Given the description of an element on the screen output the (x, y) to click on. 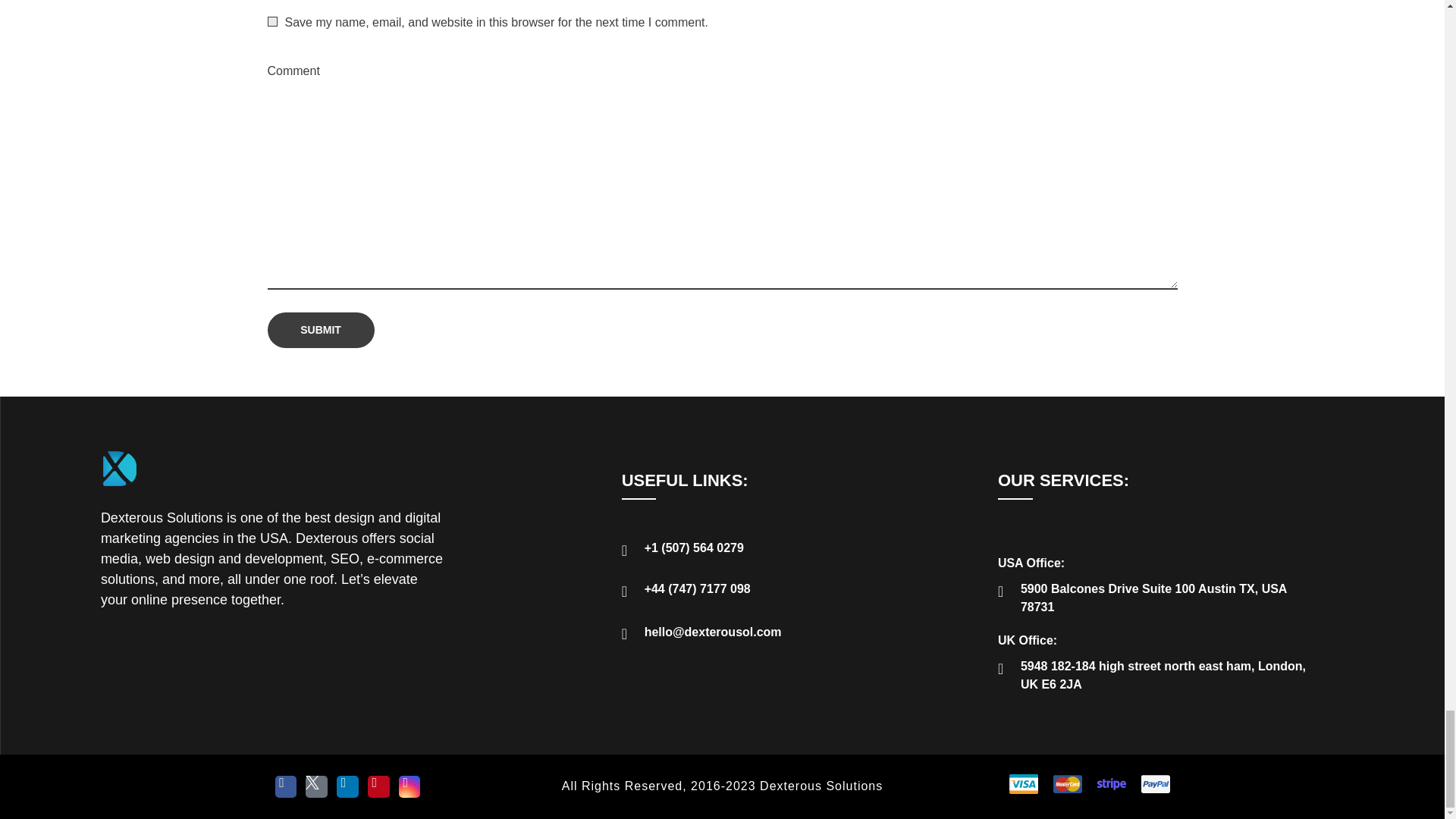
Dexterous Solutions (188, 496)
yes (271, 21)
Submit (320, 330)
Dexterous Solutions (188, 496)
Submit (320, 330)
Dexterous Solutions (119, 468)
